Given the description of an element on the screen output the (x, y) to click on. 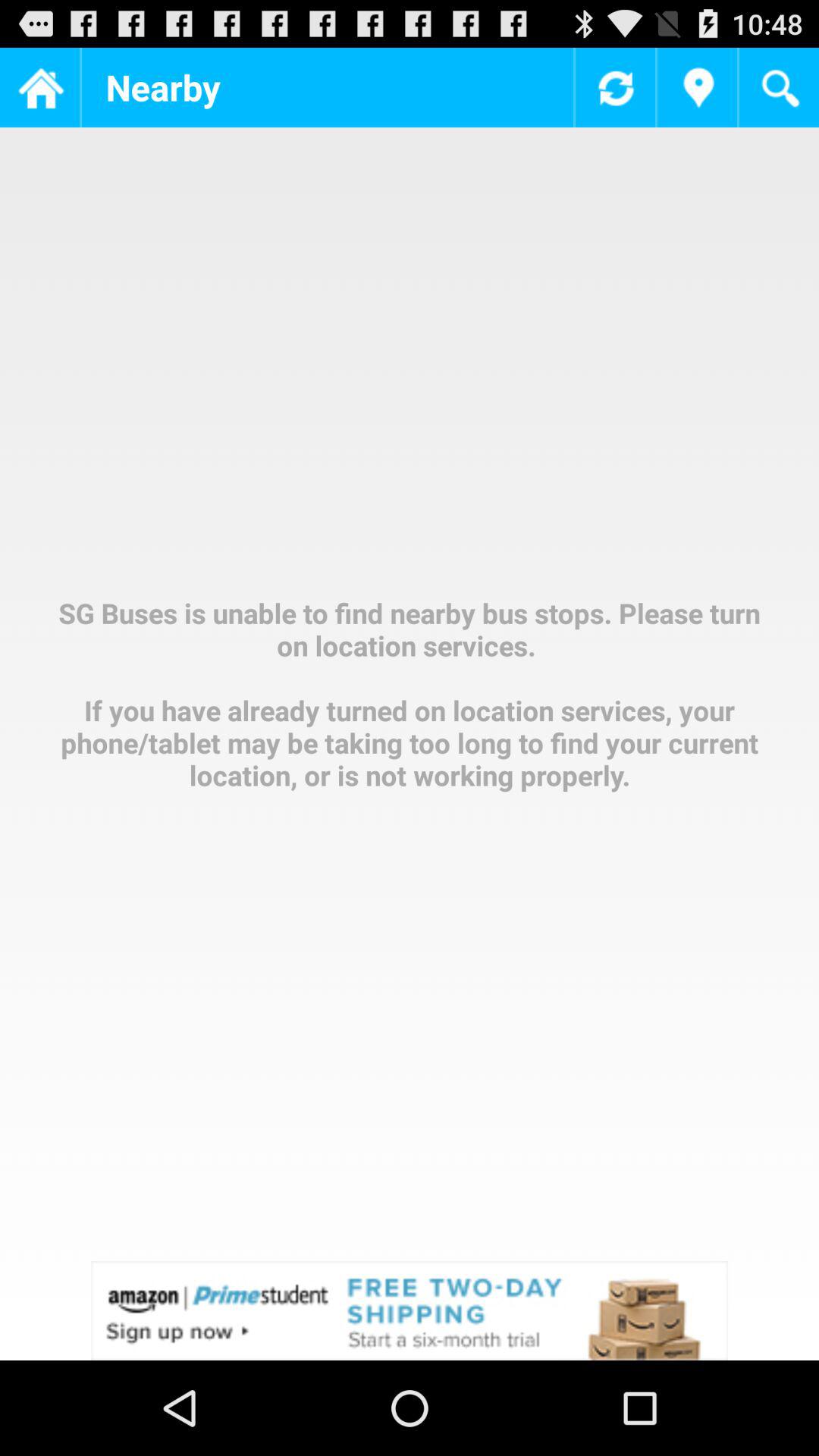
open advertisement (409, 1310)
